Given the description of an element on the screen output the (x, y) to click on. 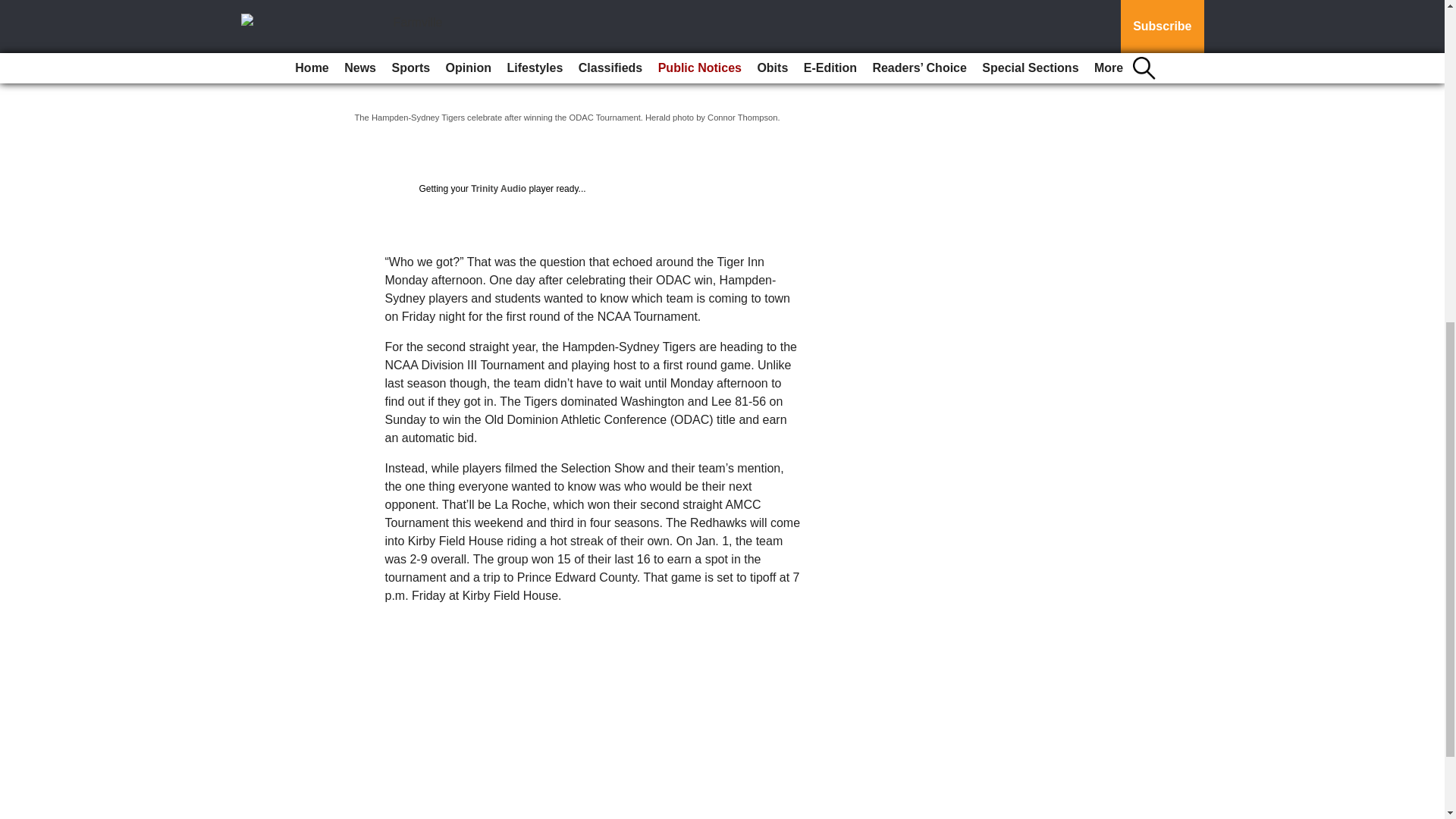
Trinity Audio (497, 188)
